Given the description of an element on the screen output the (x, y) to click on. 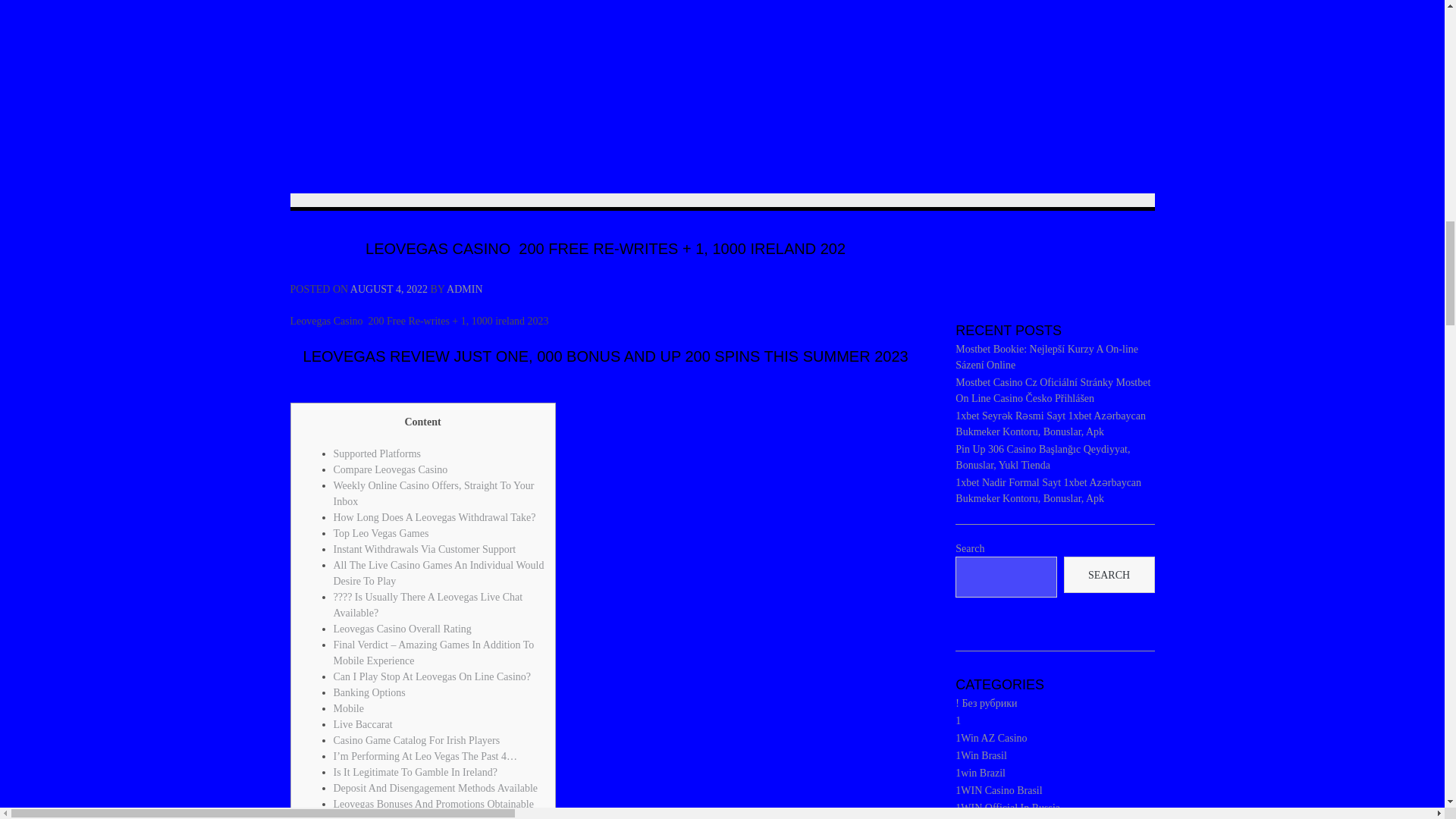
Supported Platforms (377, 453)
Banking Options (369, 692)
Weekly Online Casino Offers, Straight To Your Inbox (433, 492)
Leovegas Casino Overall Rating (402, 628)
Is It Legitimate To Gamble In Ireland? (415, 772)
AUGUST 4, 2022 (389, 288)
ADMIN (463, 288)
Compare Leovegas Casino (390, 469)
Casino Game Catalog For Irish Players (416, 740)
Can I Play Stop At Leovegas On Line Casino? (432, 676)
